Given the description of an element on the screen output the (x, y) to click on. 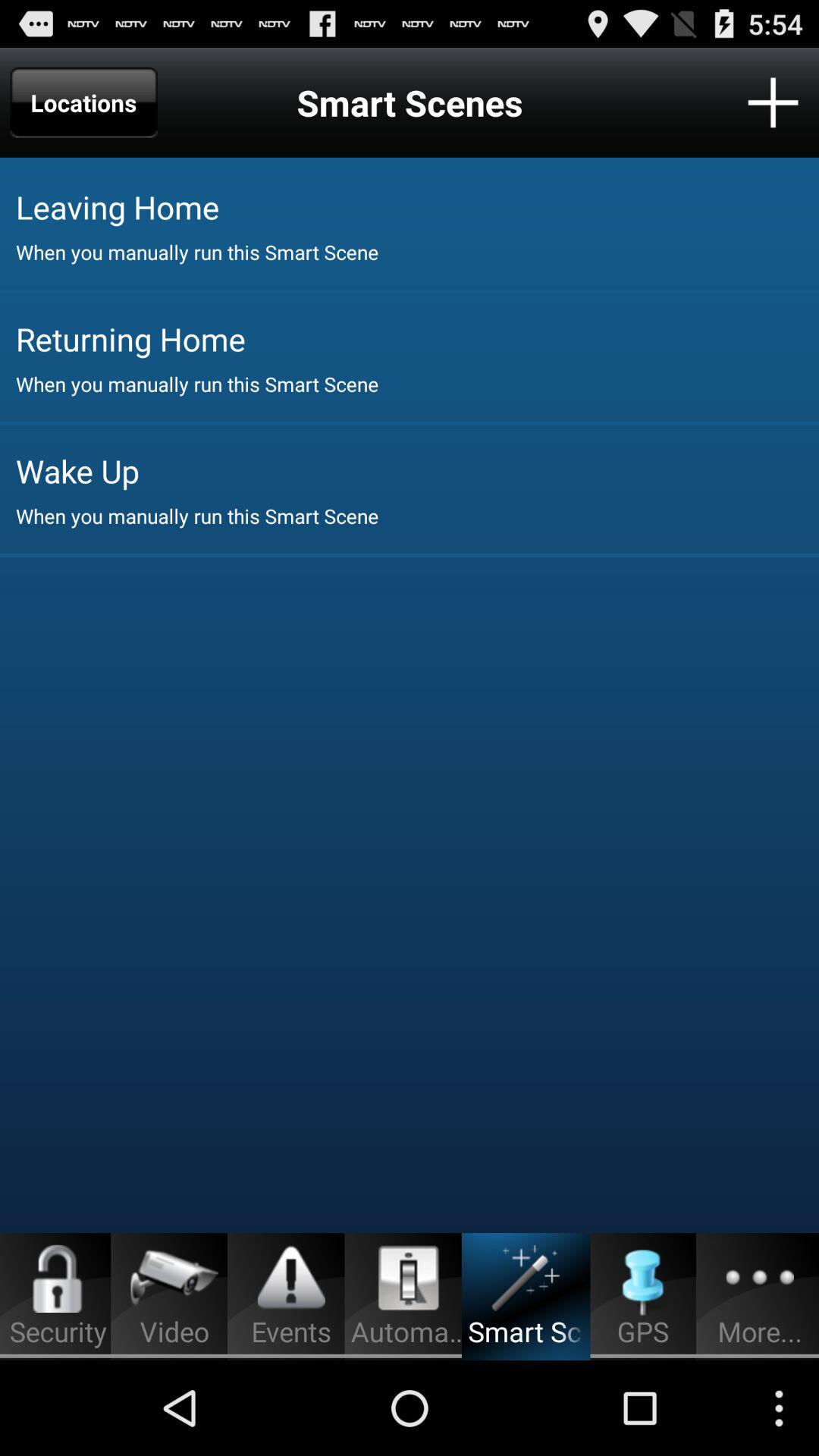
press the icon above when you manually app (417, 206)
